Given the description of an element on the screen output the (x, y) to click on. 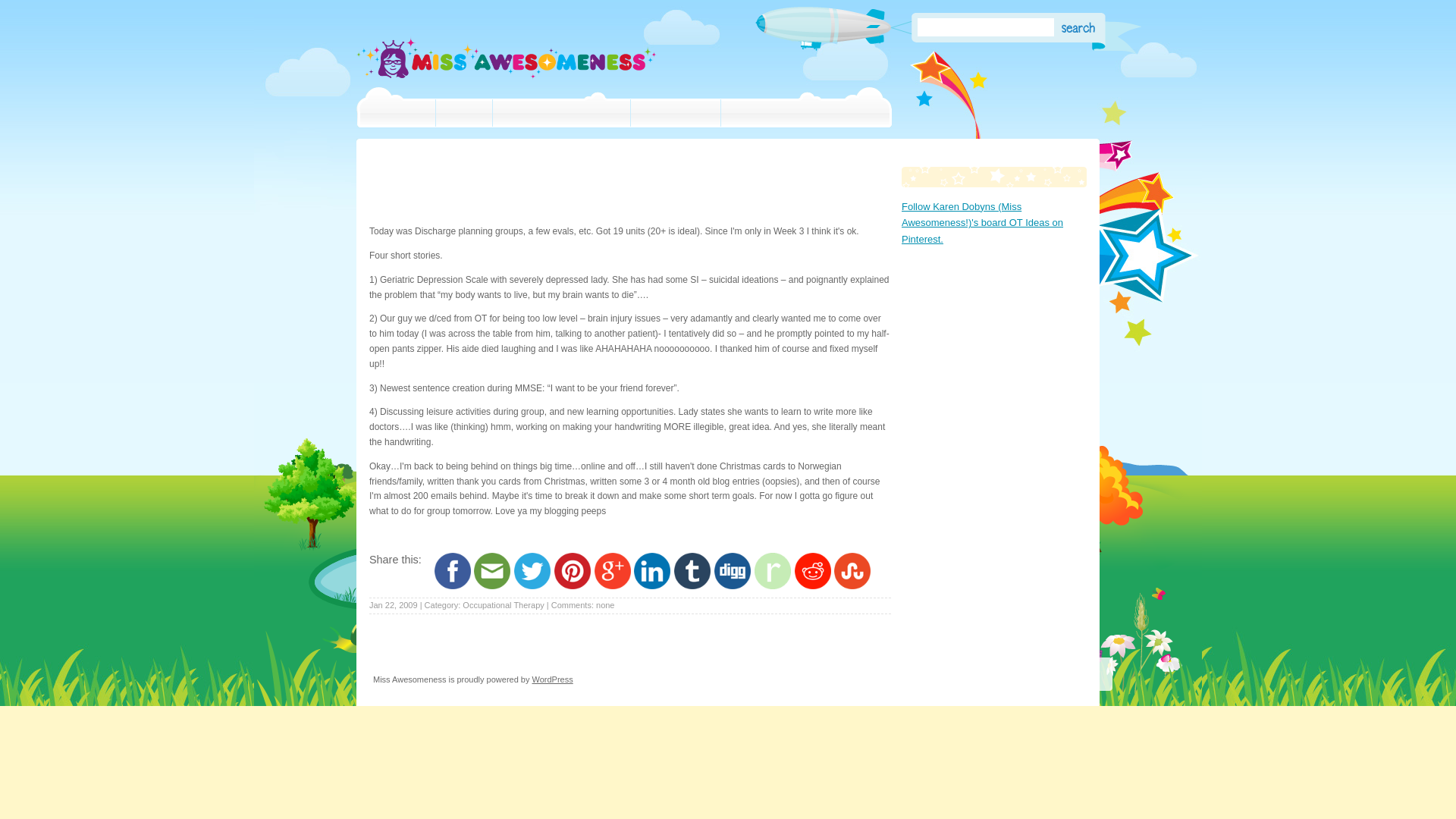
WordPress (552, 678)
Share via StumbleUpon (852, 585)
Share via Facebook (451, 585)
Share via Ravelry (772, 585)
Share via Twitter (531, 585)
Share via Digg (732, 585)
Share via LinkedIn (651, 585)
Share via Pinterest (572, 585)
Share via Google (612, 585)
Share via Reddit (812, 585)
